Given the description of an element on the screen output the (x, y) to click on. 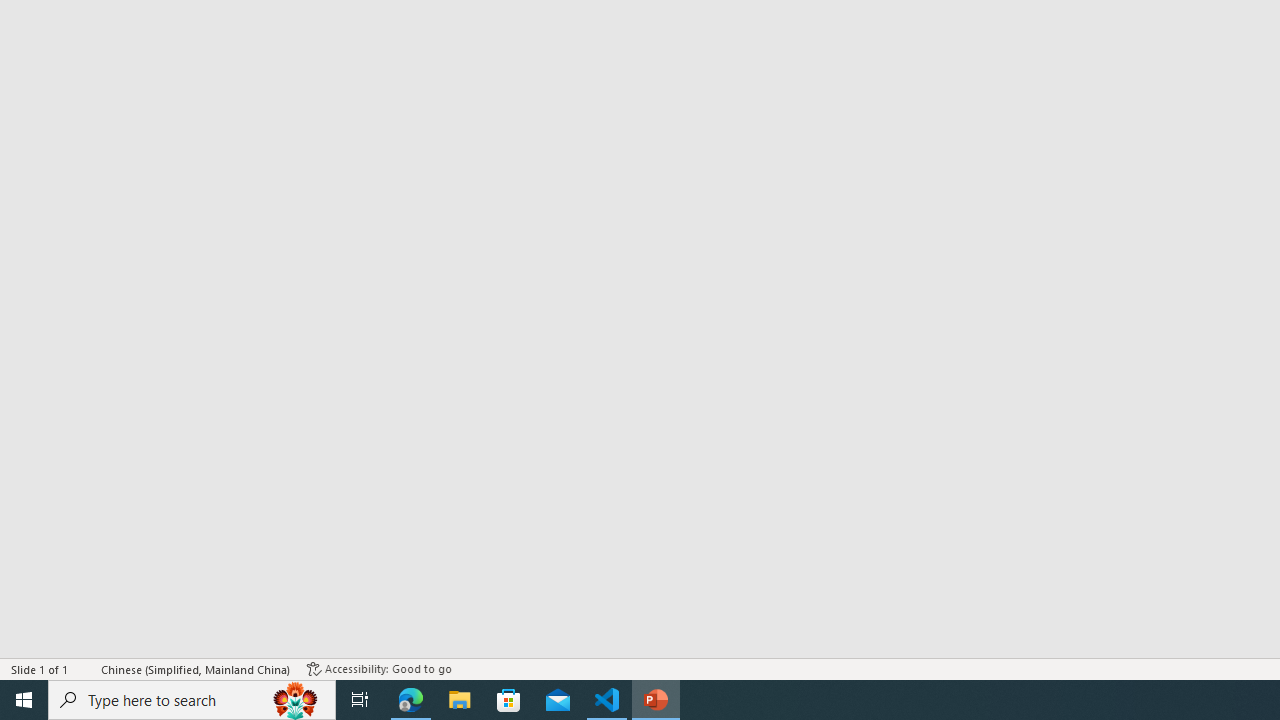
Accessibility Checker Accessibility: Good to go (379, 668)
Spell Check  (86, 668)
